Given the description of an element on the screen output the (x, y) to click on. 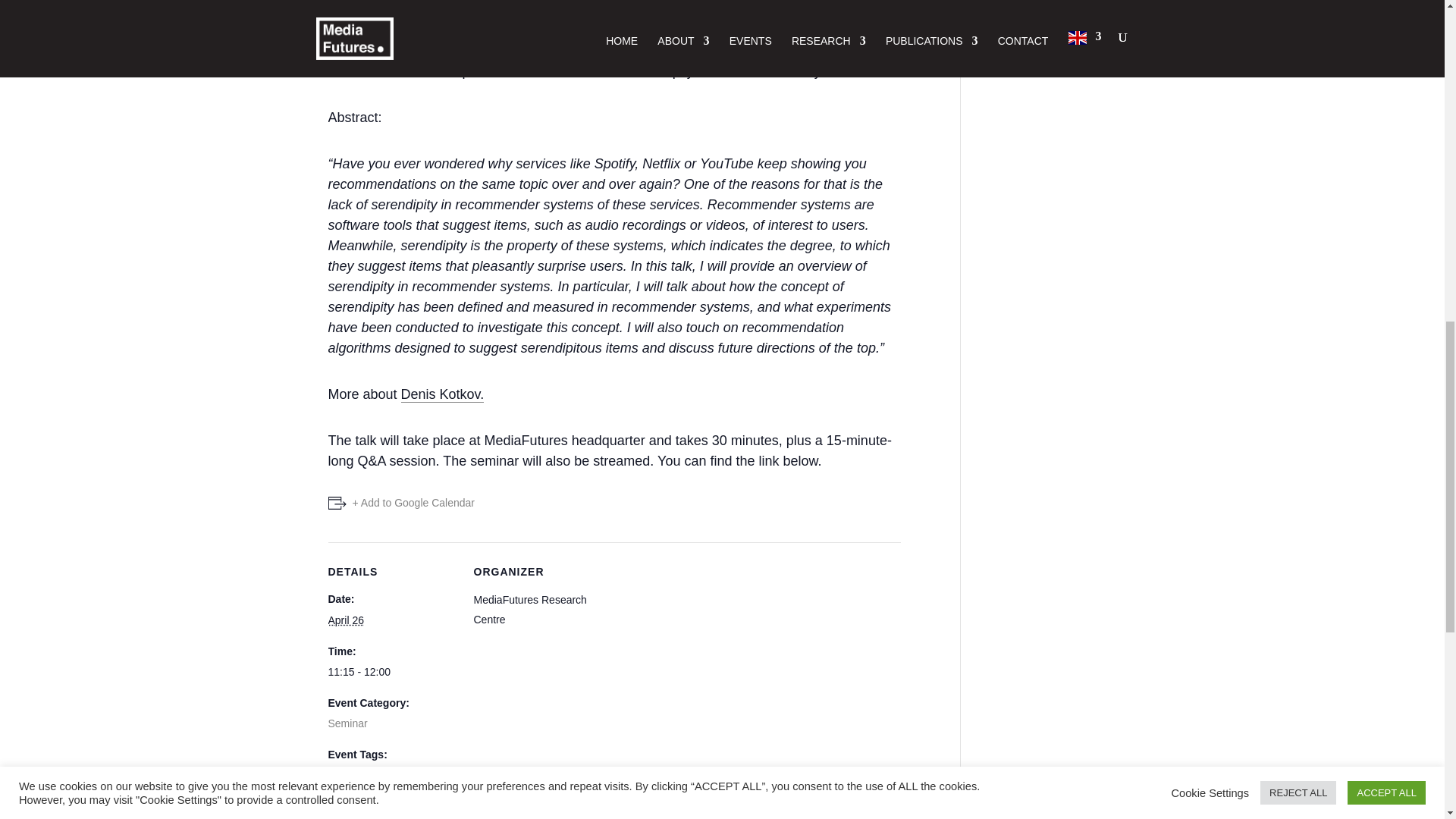
2024-04-26 (390, 672)
Add to Google Calendar (400, 502)
2024-04-26 (344, 620)
